Given the description of an element on the screen output the (x, y) to click on. 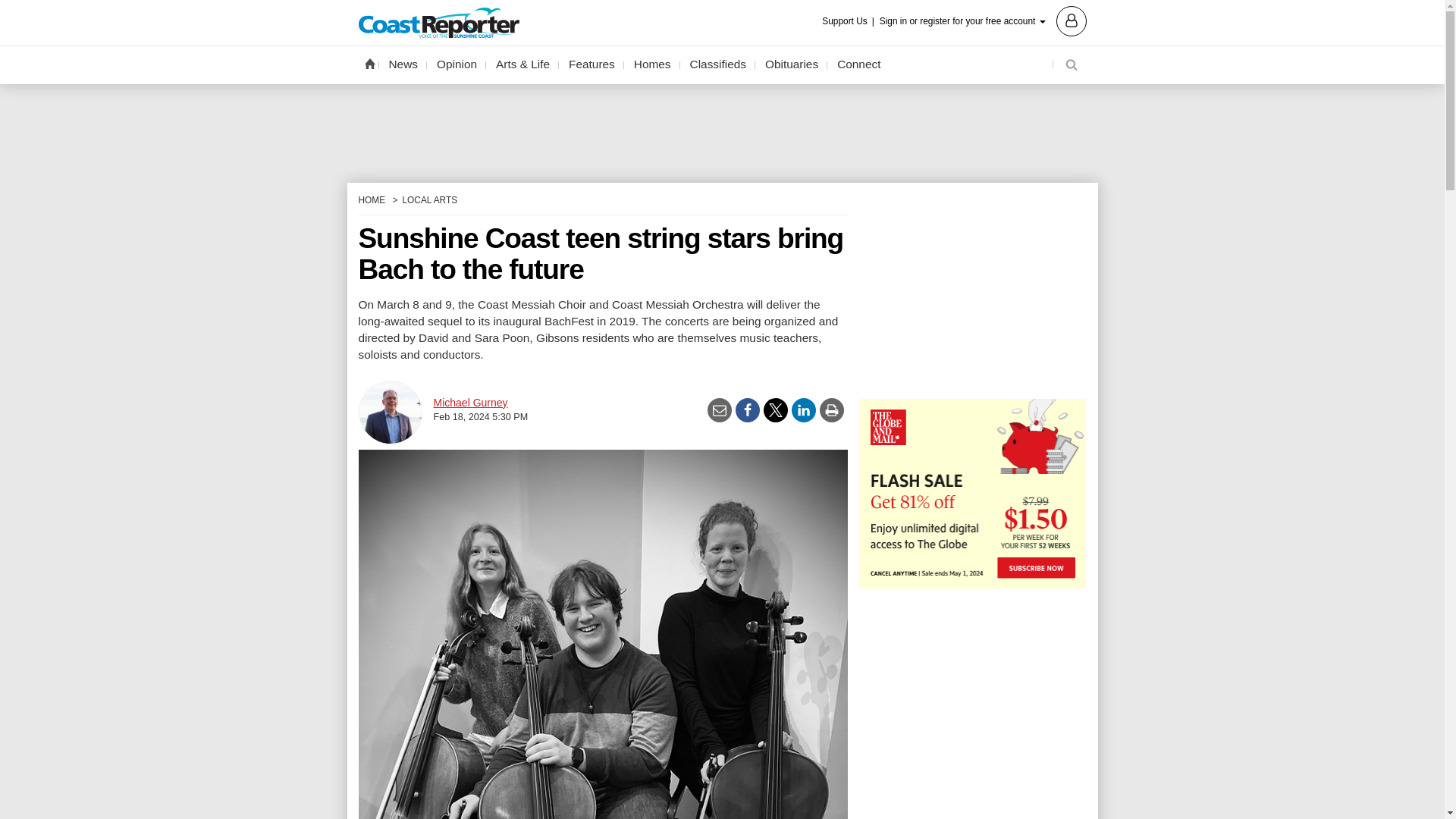
Support Us (849, 21)
News (403, 64)
Home (368, 63)
Opinion (456, 64)
Sign in or register for your free account (982, 20)
